Given the description of an element on the screen output the (x, y) to click on. 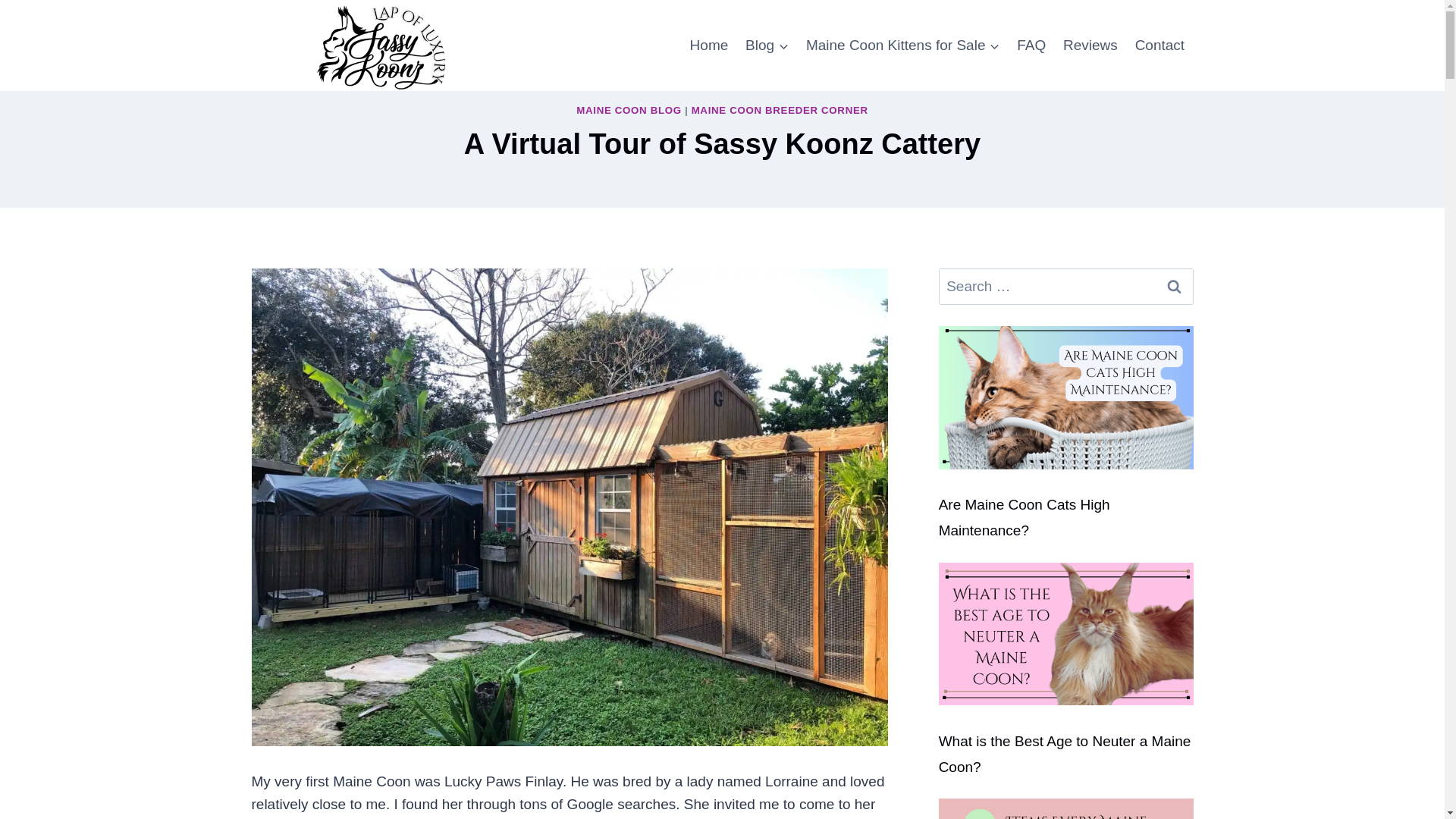
Search (1174, 286)
MAINE COON BLOG (628, 110)
Reviews (1090, 45)
MAINE COON BREEDER CORNER (779, 110)
FAQ (1031, 45)
Blog (766, 45)
Contact (1158, 45)
Home (708, 45)
Search (1174, 286)
Maine Coon Kittens for Sale (901, 45)
